Given the description of an element on the screen output the (x, y) to click on. 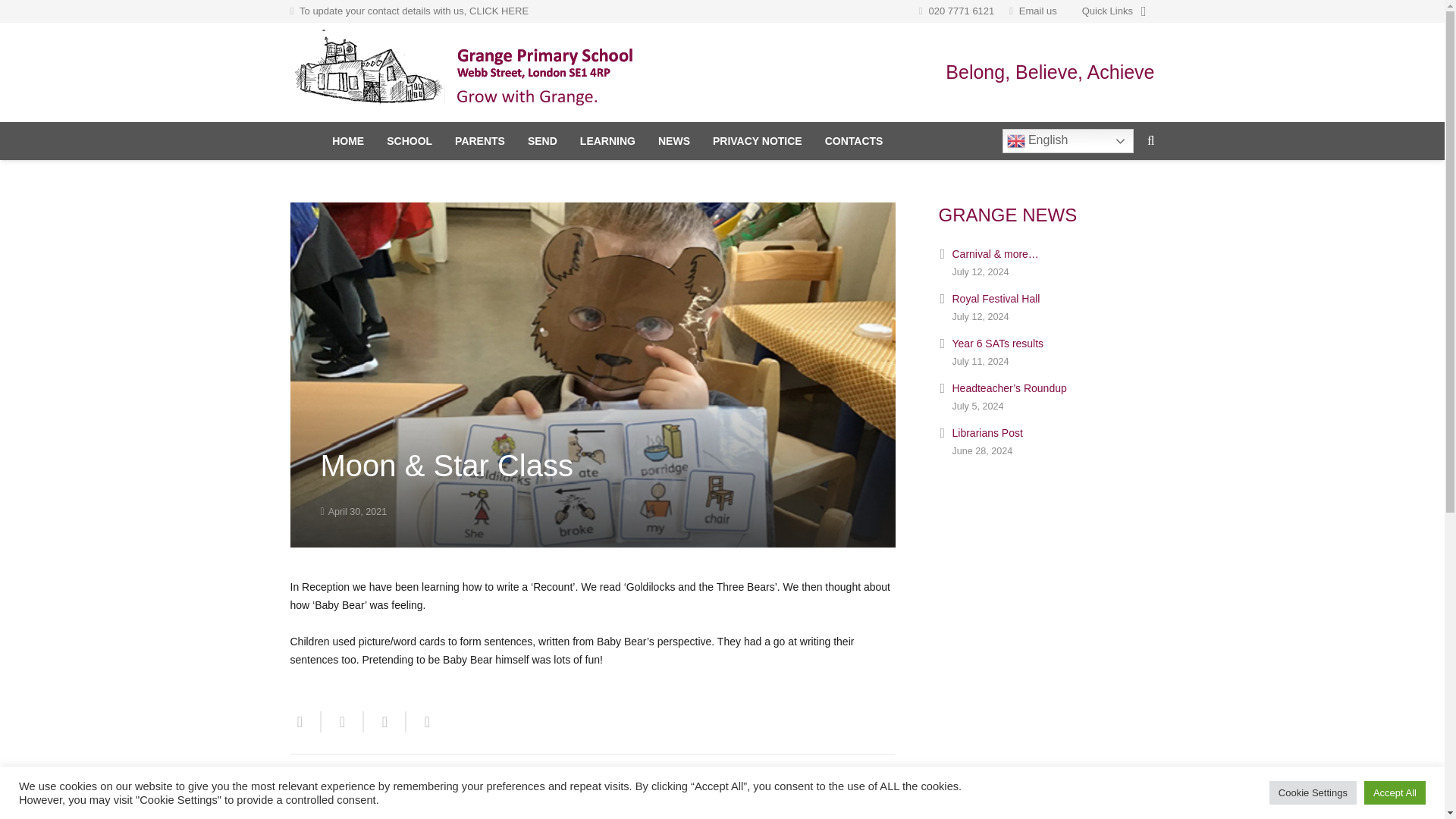
HOME (347, 140)
PARENTS (480, 140)
Quick Links (1112, 11)
To update your contact details with us, CLICK HERE (413, 10)
Email us (1038, 10)
SCHOOL (409, 140)
